Given the description of an element on the screen output the (x, y) to click on. 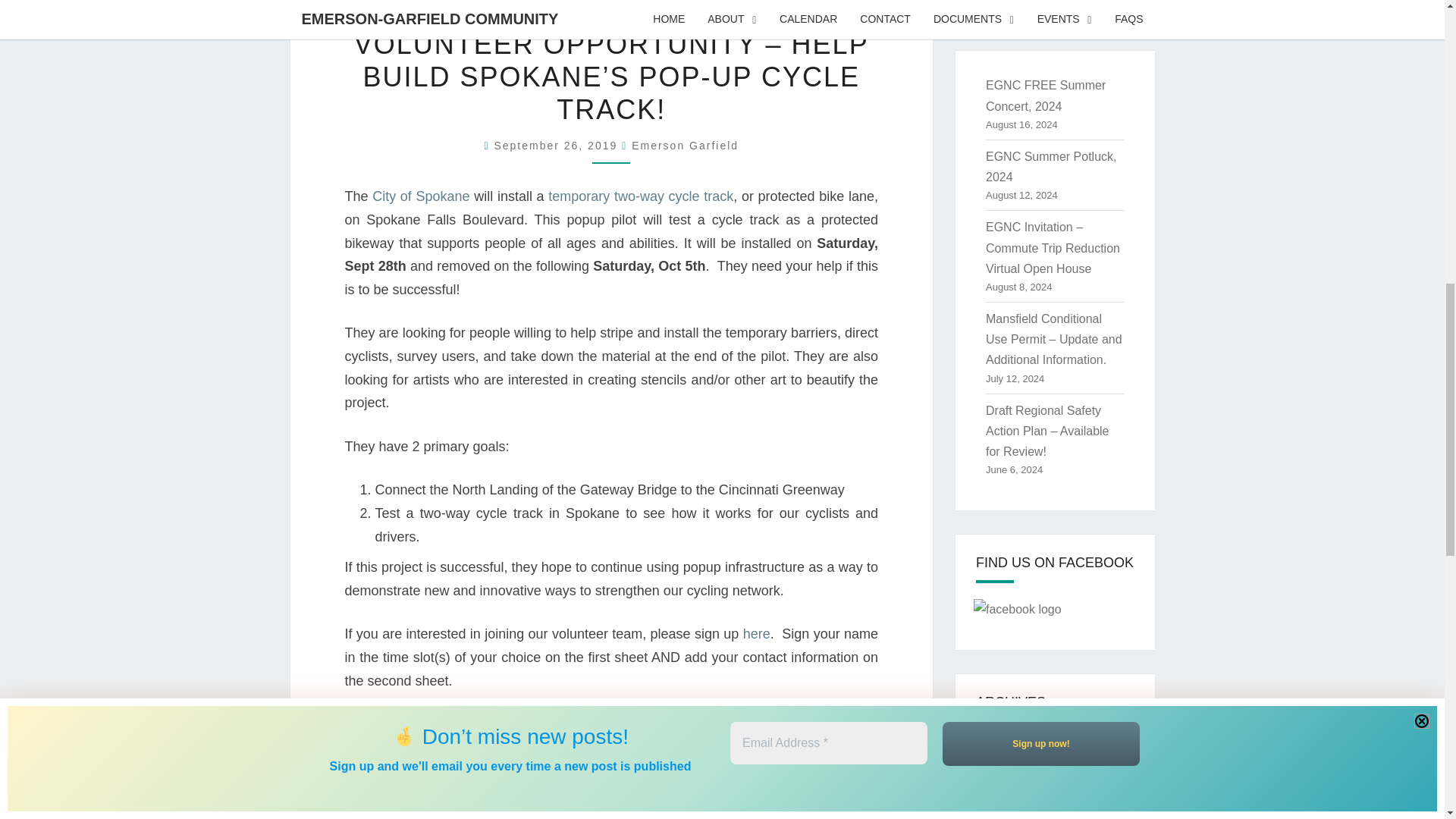
September 26, 2019 (557, 145)
12:32 pm (557, 145)
here (756, 633)
View all posts by Emerson Garfield (684, 145)
City of Spokane (420, 196)
temporary two-way cycle track (640, 196)
Emerson Garfield (684, 145)
